Given the description of an element on the screen output the (x, y) to click on. 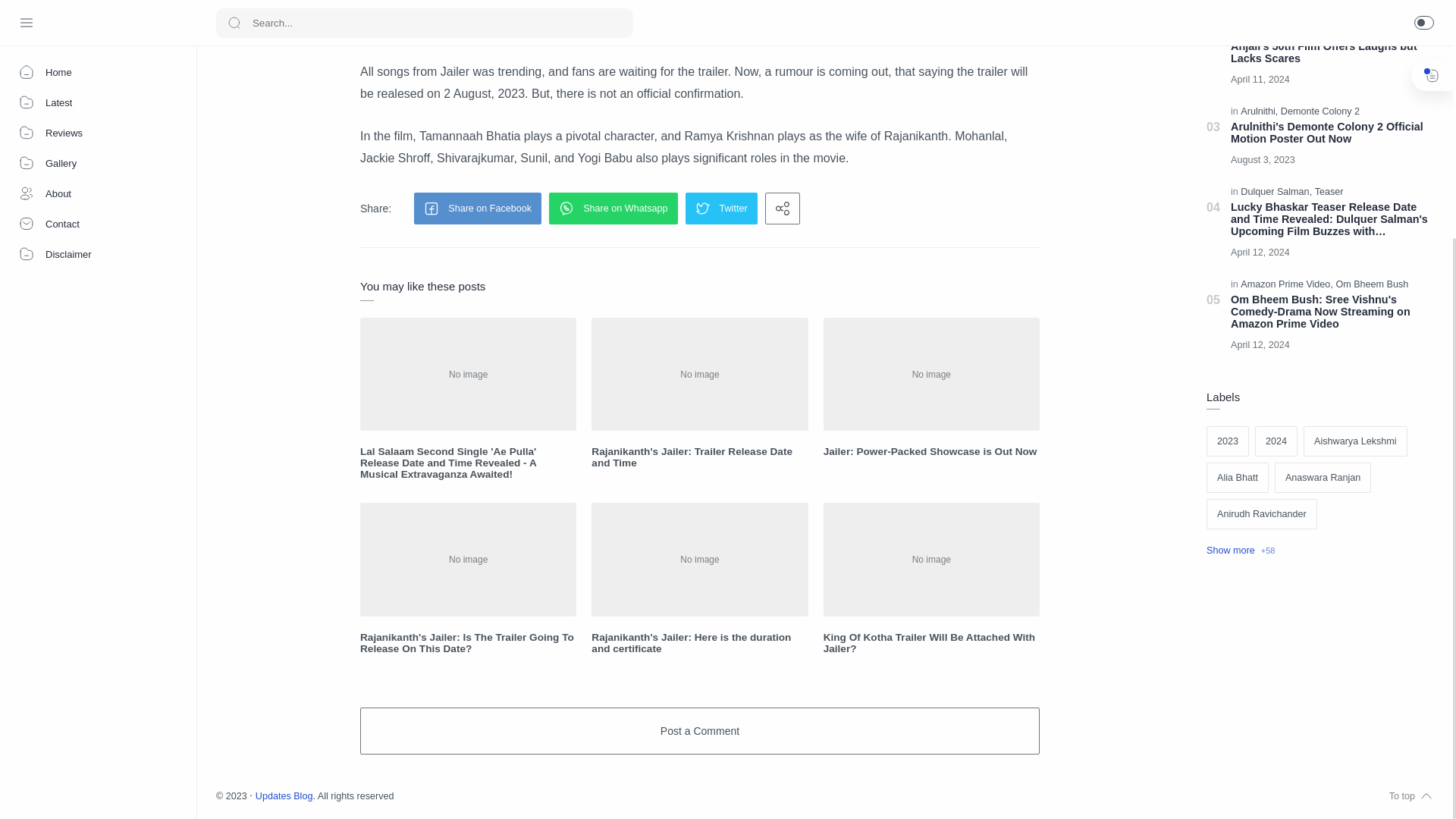
Last updated: April 12, 2024 (1263, 252)
Rajanikanth's Jailer: Trailer Release Date and Time (699, 456)
Rajanikanth's Jailer: Here is the duration and certificate (699, 642)
King Of Kotha Trailer Will Be Attached With Jailer? (931, 642)
Share to Twitter (721, 208)
Jailer: Power-Packed Showcase is Out Now (931, 451)
Published: August 3, 2023 (1266, 159)
Published: April 11, 2024 (1263, 79)
Published: April 12, 2024 (1263, 344)
